Given the description of an element on the screen output the (x, y) to click on. 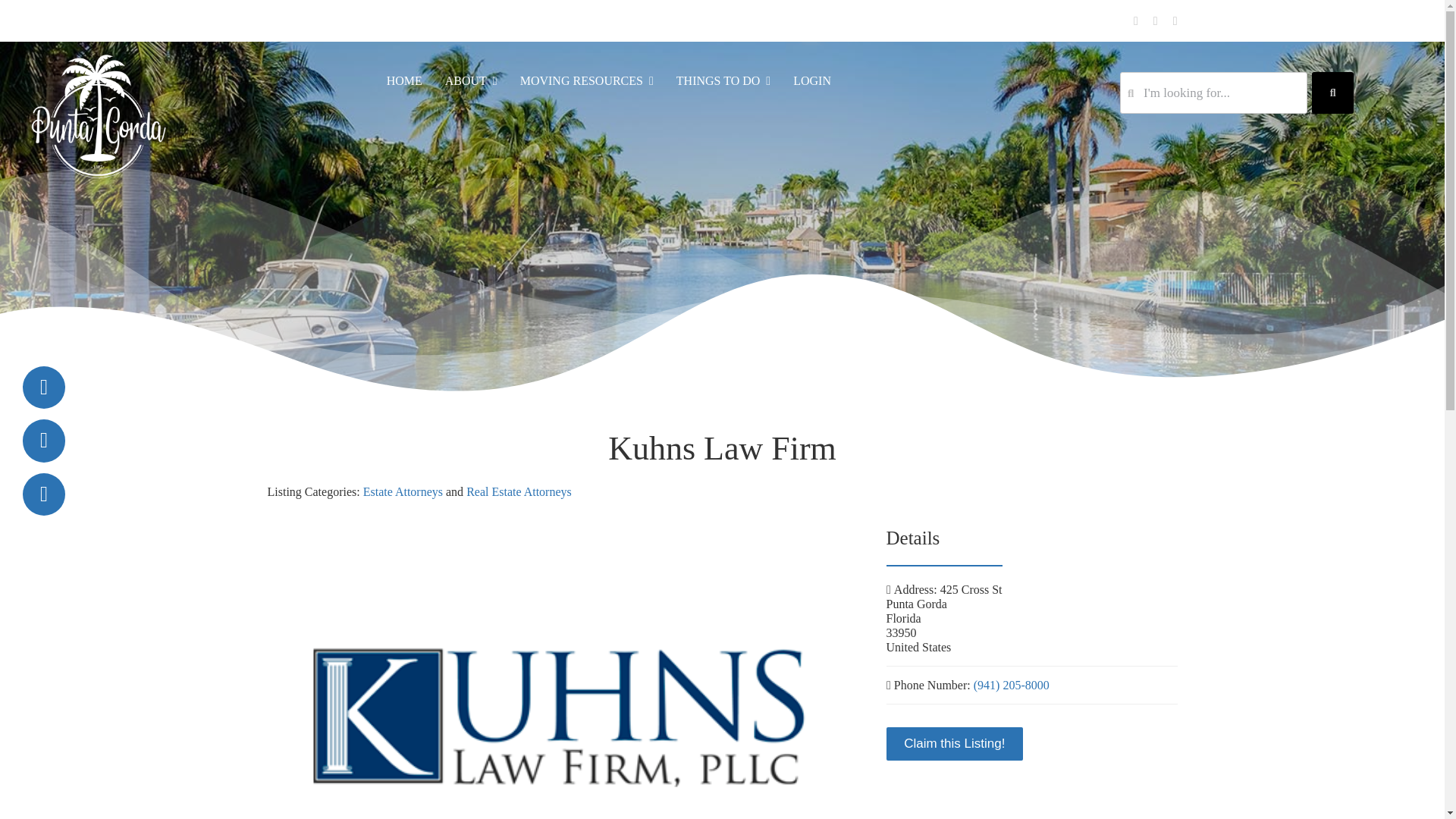
Resources for Moving to Punta Gorda (586, 81)
ABOUT (471, 81)
Instagram (1175, 21)
About Punta Gorda (471, 81)
Twitter (1155, 21)
Facebook (1136, 21)
MOVING RESOURCES (586, 81)
THINGS TO DO (723, 81)
Things to do in Punta Gorda (723, 81)
HOME (404, 81)
